Given the description of an element on the screen output the (x, y) to click on. 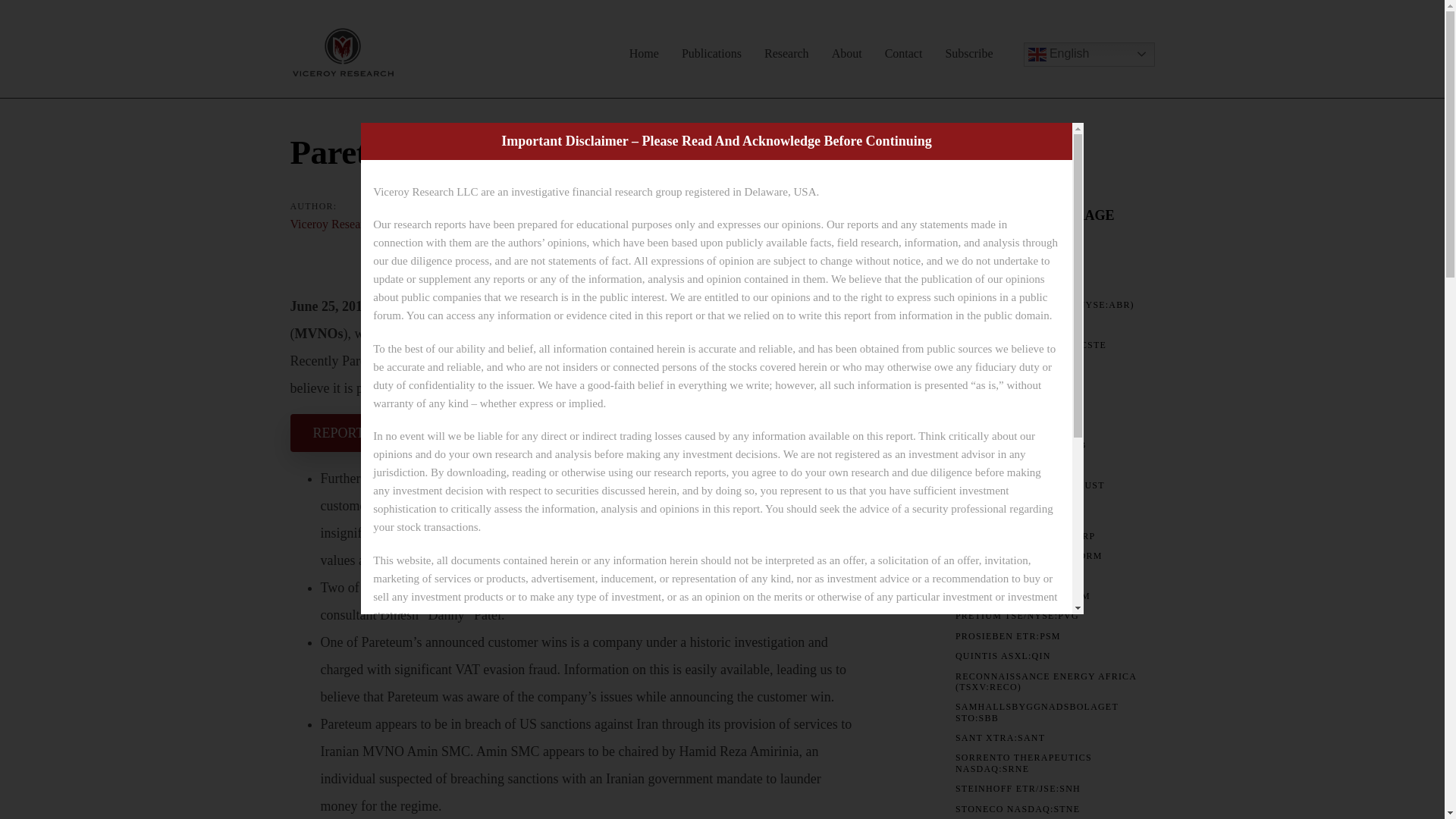
Agree (659, 805)
Pareteum 26062019 (397, 433)
Pareteum NASDAQ:TEUM (602, 223)
CAESARSTONE NASDAQ:CSTE (1030, 344)
CAPITEC JSE:CPI (998, 364)
ATHENEX NASDAQ:ATNX (1018, 324)
AMD NASDAQ:AMD (1003, 285)
English (1088, 54)
GLOBE LIFE NYSE:GL (1009, 404)
EBIX NASDAQ:EBIX (1005, 385)
GRENKE AG XTRA:GLJ (1011, 424)
REPORT DOWNLOAD LINK (397, 433)
ABALANCE TYO:8356 (1008, 244)
Disagree (762, 805)
June 26, 2019 (448, 223)
